Given the description of an element on the screen output the (x, y) to click on. 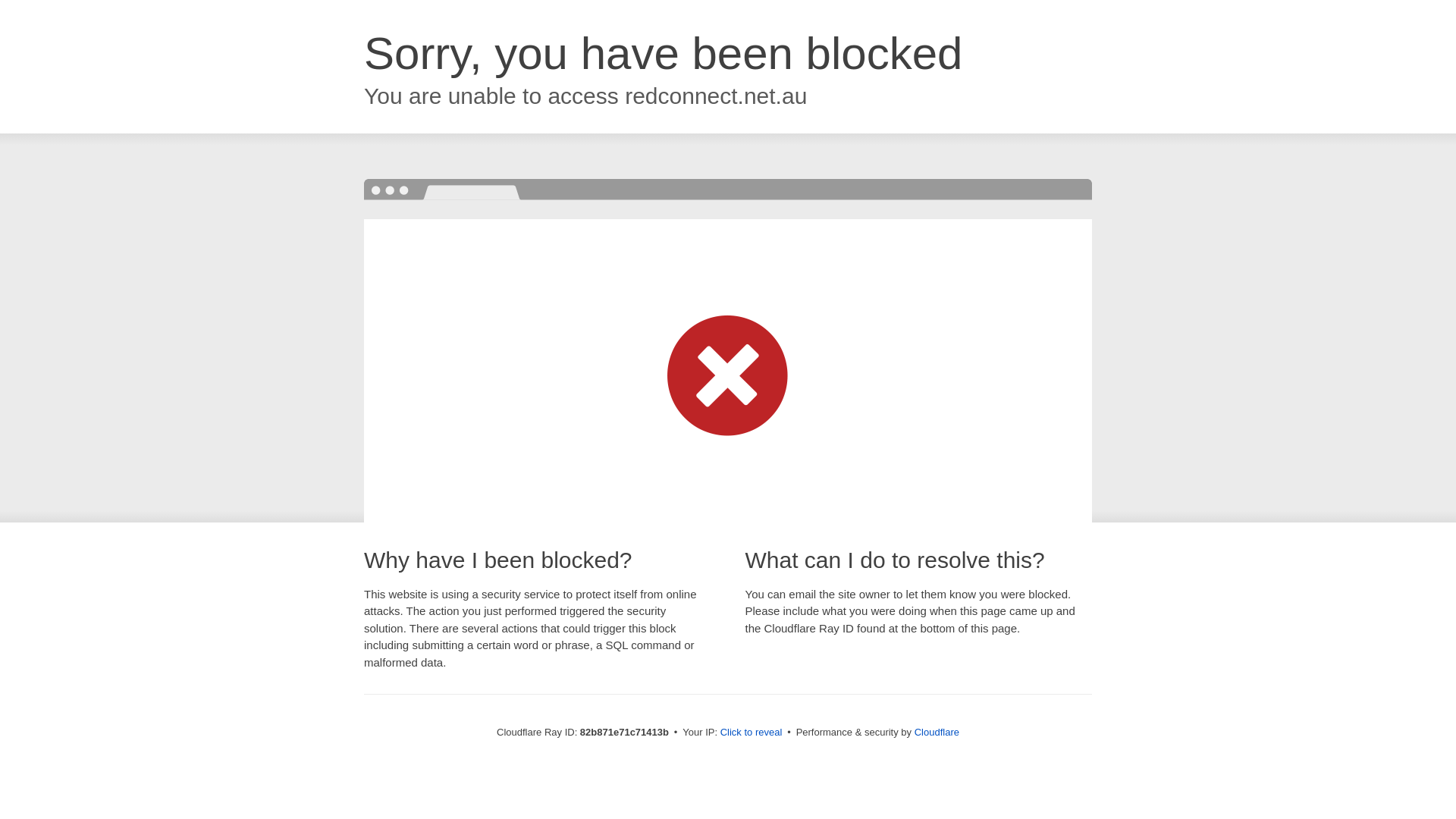
Cloudflare Element type: text (936, 731)
Click to reveal Element type: text (751, 732)
